Given the description of an element on the screen output the (x, y) to click on. 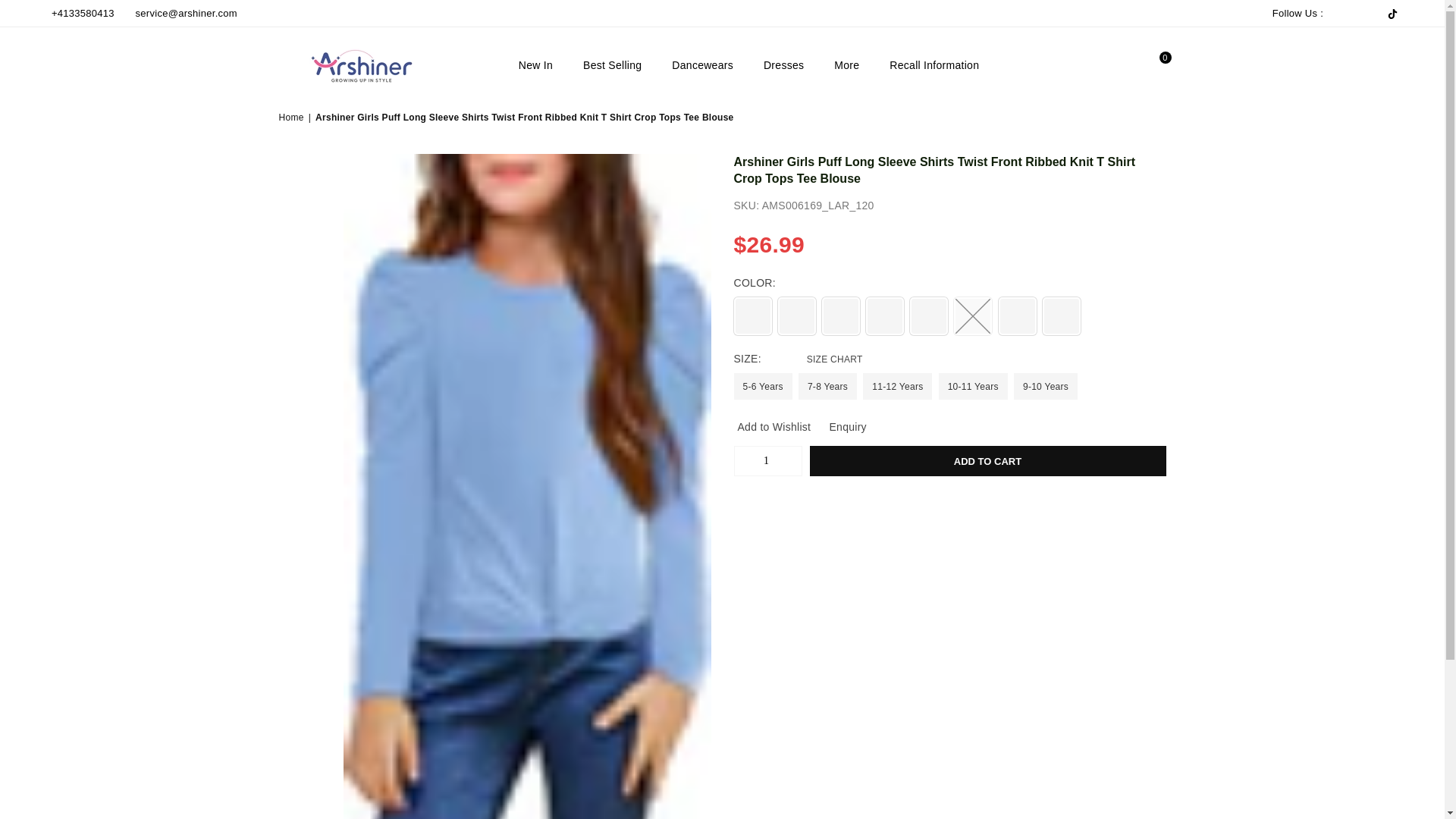
Pinterest (1356, 13)
ARSHINER (373, 65)
ARSHINER on Facebook (1334, 13)
Dancewears (702, 64)
YouTube (1376, 13)
Cart (1152, 65)
Instagram (1366, 13)
Recall Information (933, 64)
Best Selling (612, 64)
Back to the home page (292, 117)
